Given the description of an element on the screen output the (x, y) to click on. 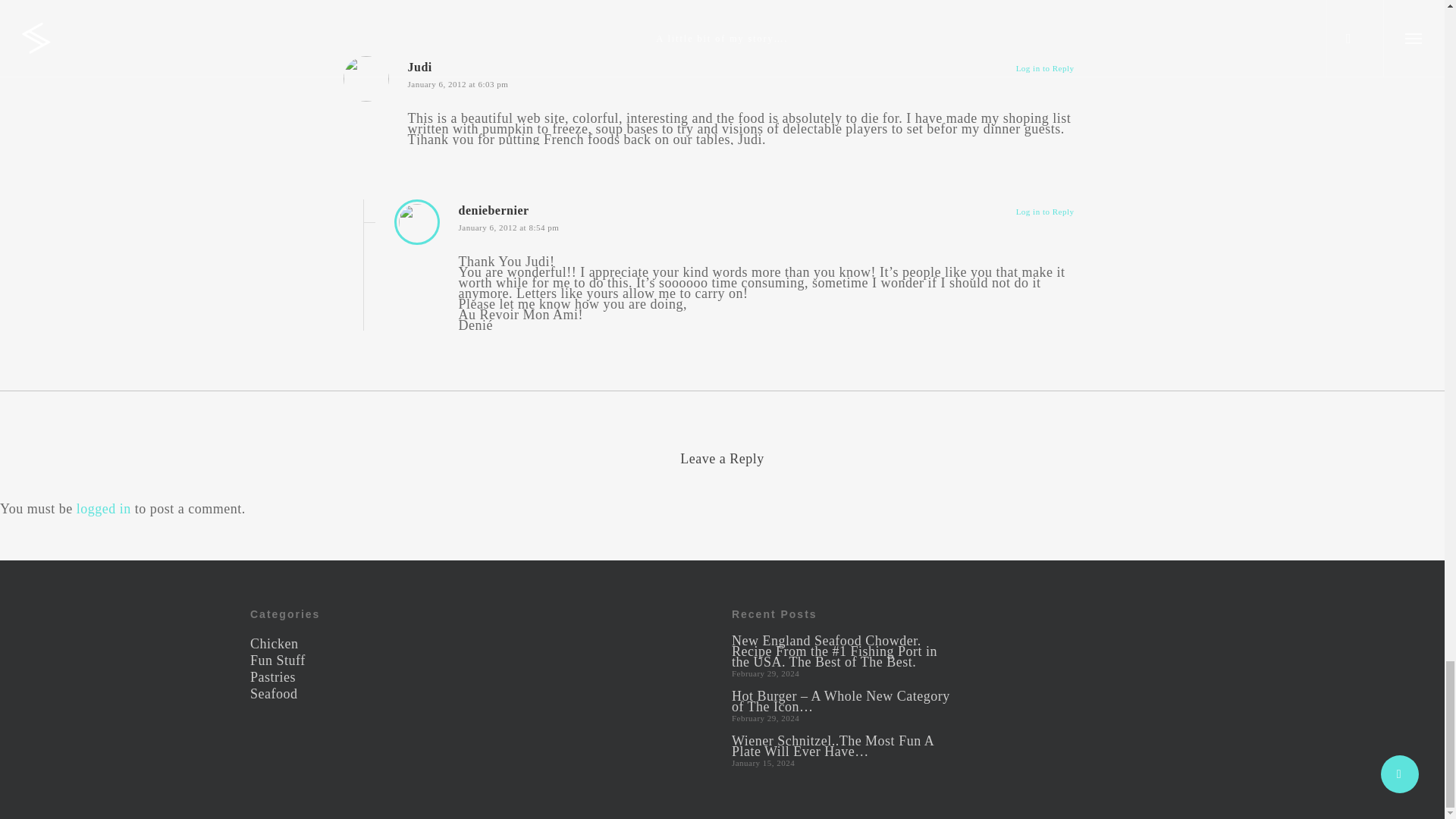
January 6, 2012 at 8:54 pm (508, 226)
Fun Stuff (360, 660)
logged in (104, 508)
January 6, 2012 at 6:03 pm (457, 83)
Chicken (360, 643)
Log in to Reply (1045, 68)
Seafood (360, 693)
Log in to Reply (1045, 211)
Pastries (360, 676)
